Given the description of an element on the screen output the (x, y) to click on. 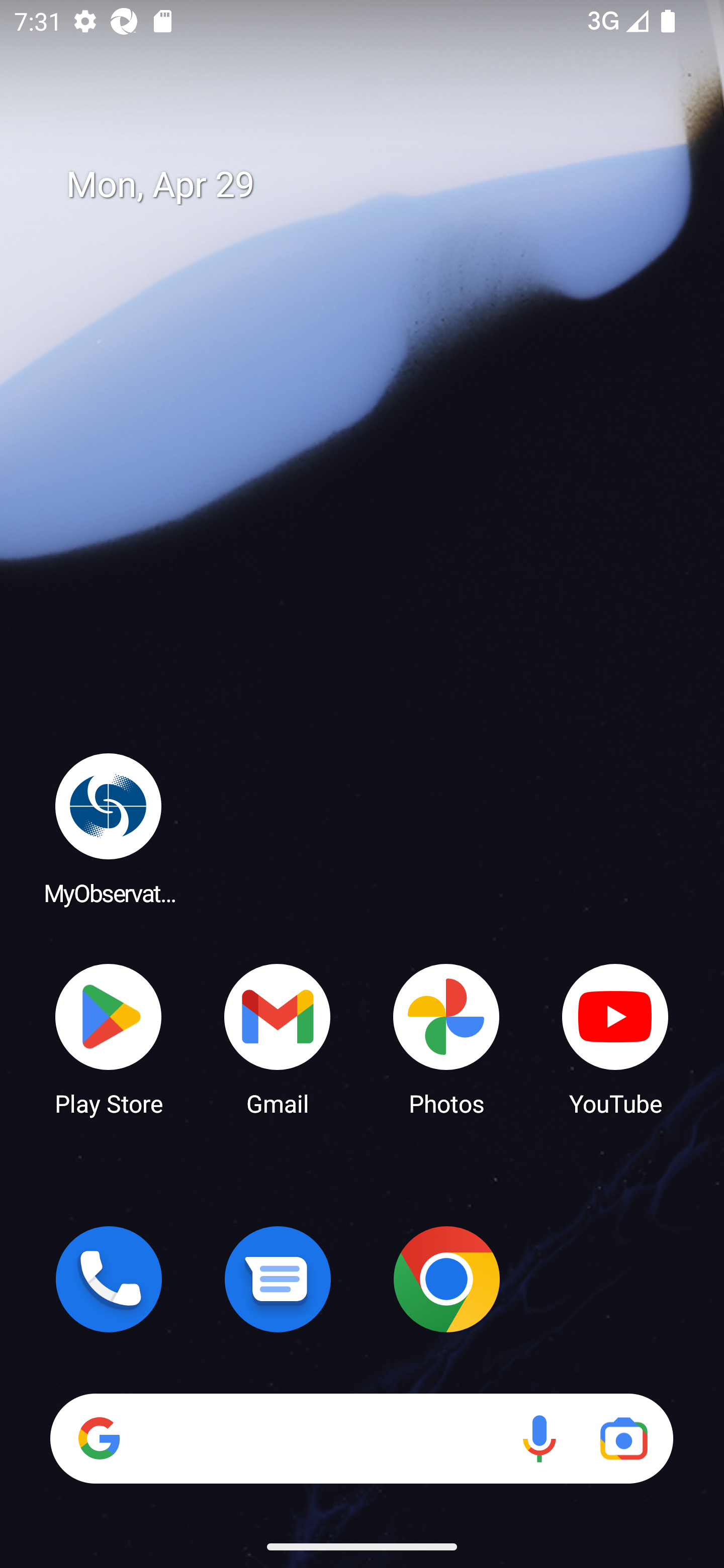
Mon, Apr 29 (375, 184)
MyObservatory (108, 828)
Play Store (108, 1038)
Gmail (277, 1038)
Photos (445, 1038)
YouTube (615, 1038)
Phone (108, 1279)
Messages (277, 1279)
Chrome (446, 1279)
Voice search (539, 1438)
Google Lens (623, 1438)
